Given the description of an element on the screen output the (x, y) to click on. 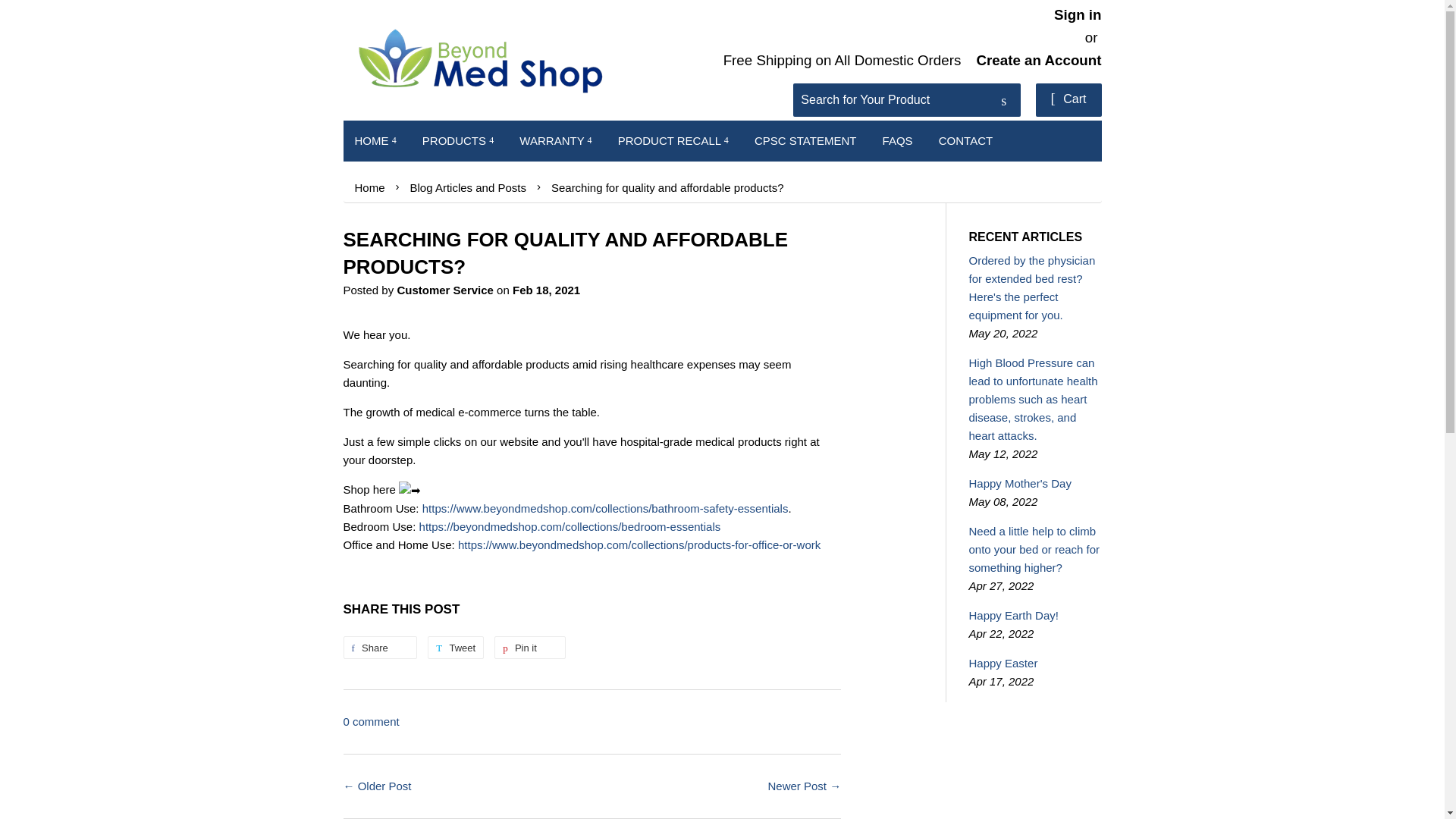
Search (1003, 101)
WARRANTY (555, 140)
HOME (374, 140)
CONTACT (965, 140)
Cart (1068, 100)
Sign in (1078, 14)
Back to the frontpage (372, 181)
PRODUCTS (457, 140)
Blog Articles and Posts (470, 187)
Bathroom essentials (605, 508)
